Given the description of an element on the screen output the (x, y) to click on. 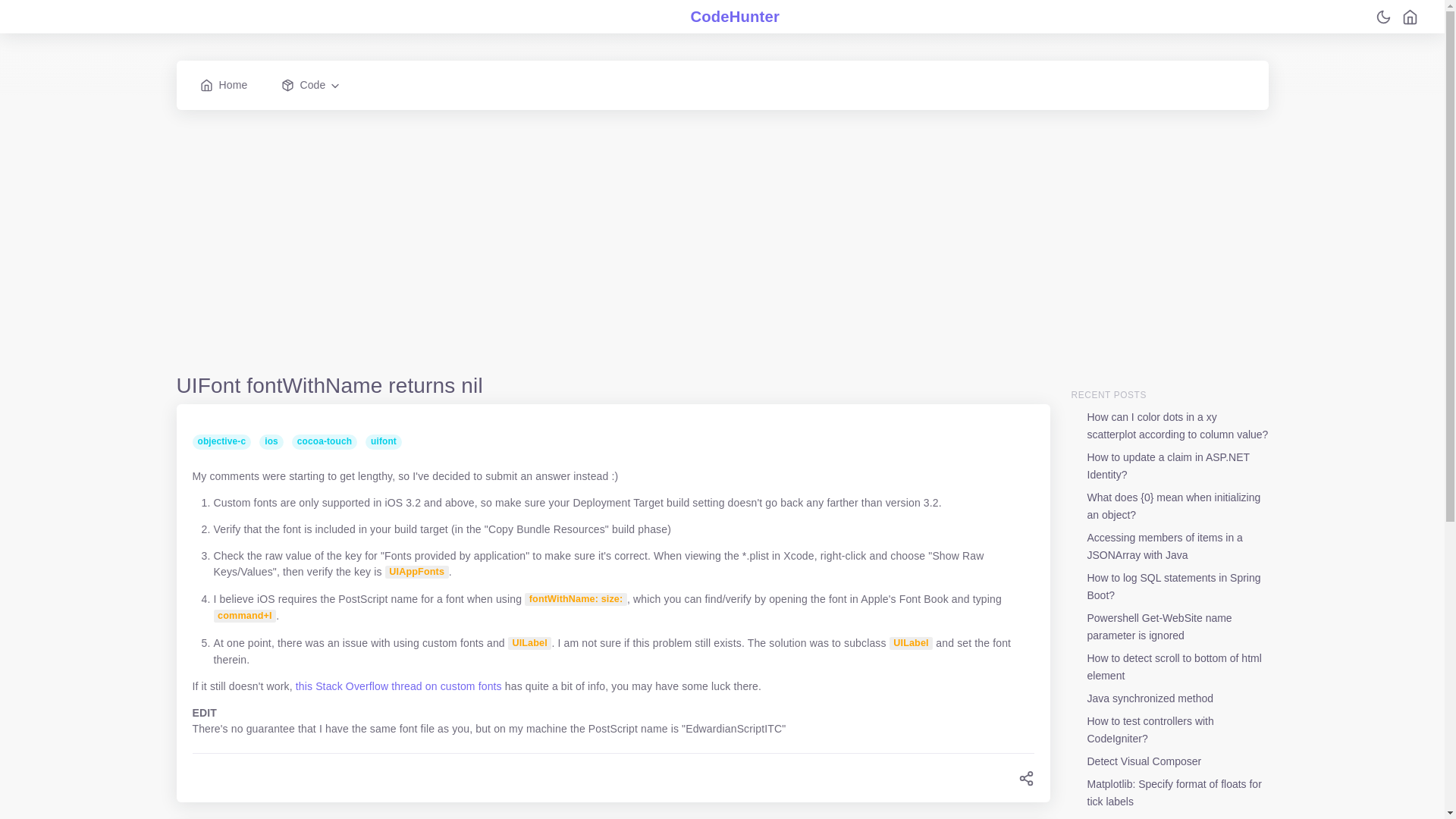
ios (275, 440)
this Stack Overflow thread on custom fonts (398, 686)
cocoa-touch (328, 440)
objective-c (226, 440)
CodeHunter (728, 16)
Code (308, 84)
uifont (386, 440)
Home (226, 84)
